Given the description of an element on the screen output the (x, y) to click on. 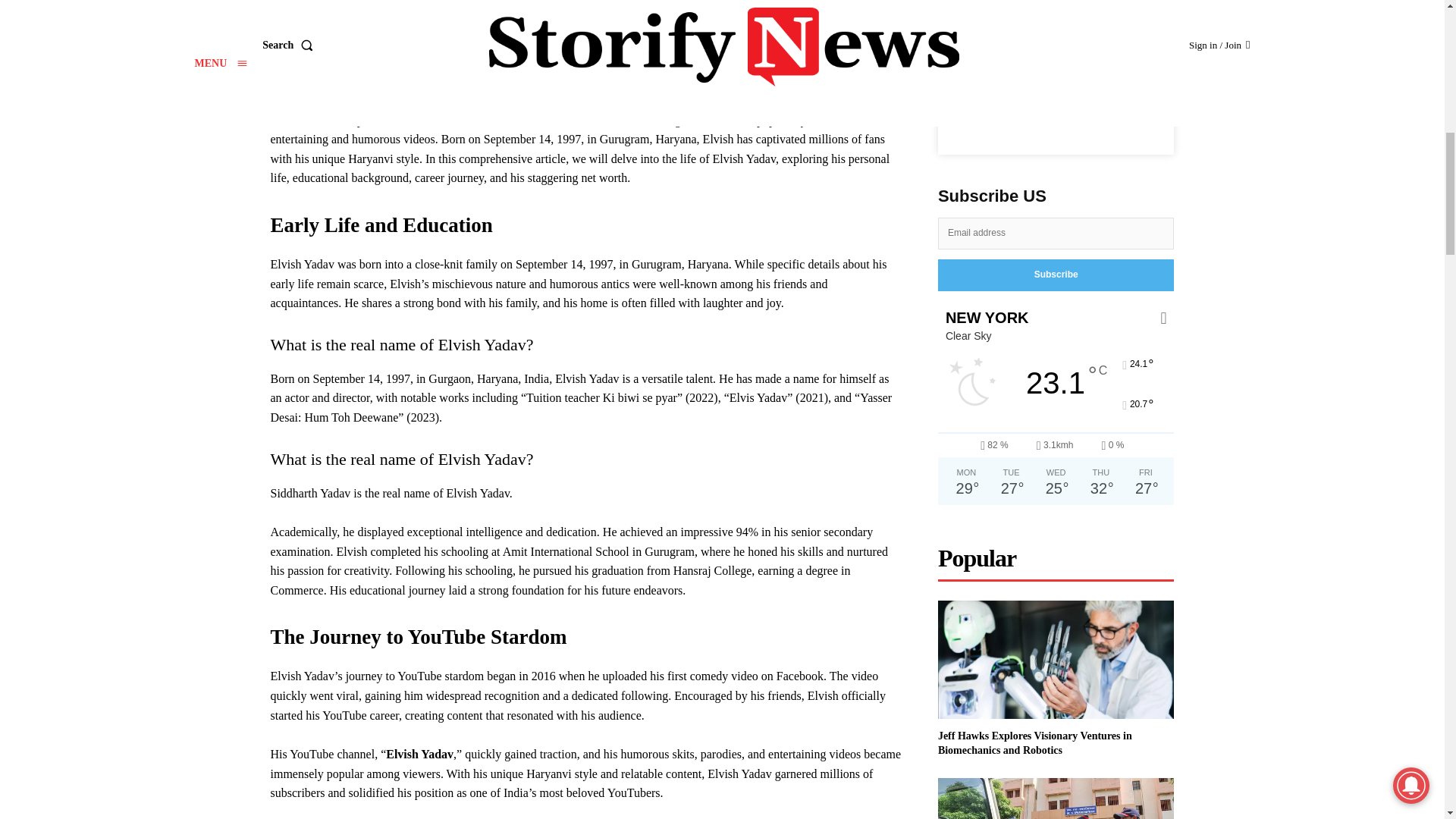
WhatsApp (1108, 111)
Facebook (1003, 111)
Pinterest (1073, 111)
Twitter (1038, 111)
